Given the description of an element on the screen output the (x, y) to click on. 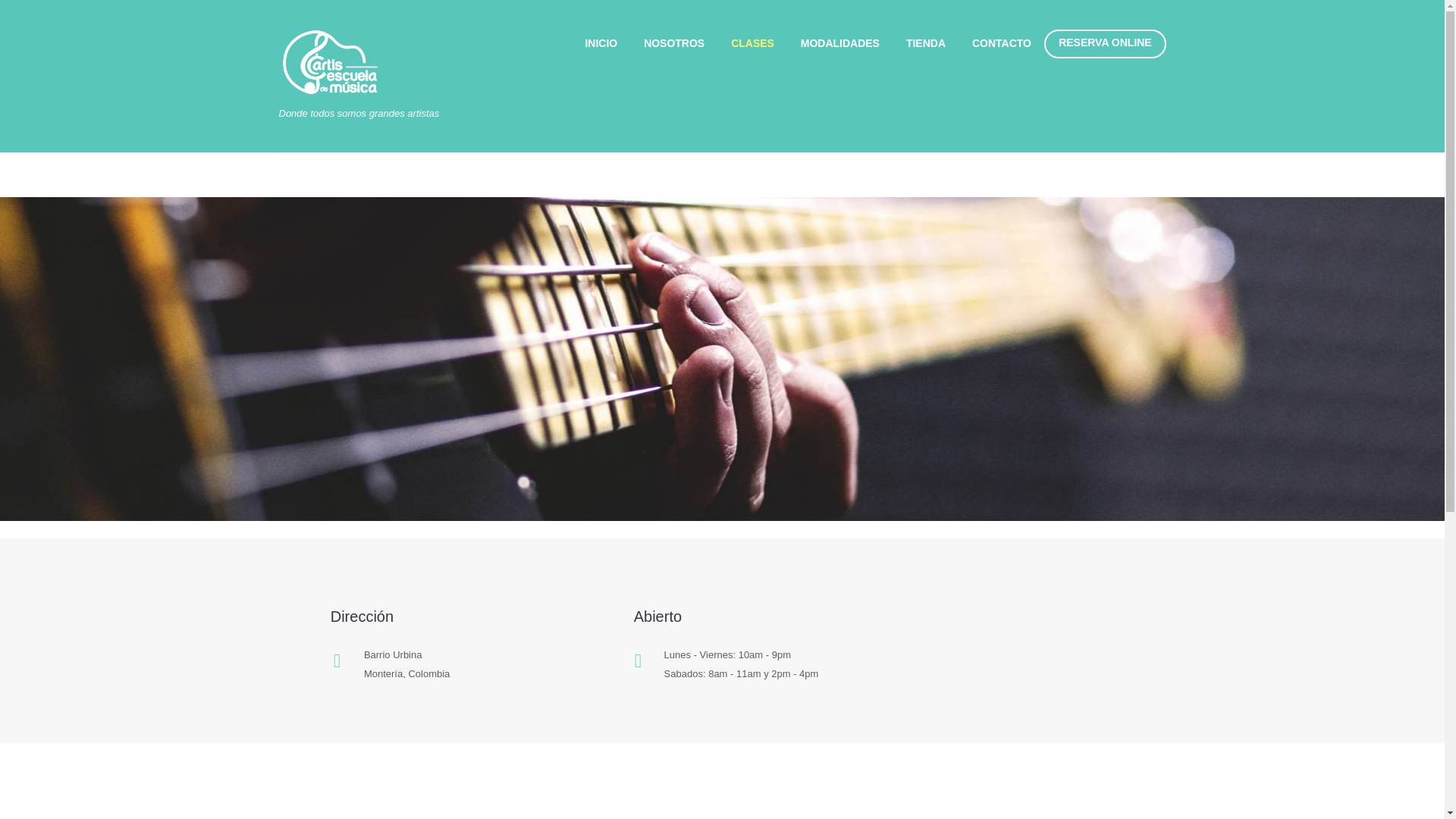
MODALIDADES (839, 43)
TIENDA (925, 43)
INICIO (601, 43)
CLASES (752, 43)
NOSOTROS (673, 43)
CONTACTO (1000, 43)
Donde todos somos grandes artistas (359, 74)
RESERVA ONLINE (1104, 43)
